Given the description of an element on the screen output the (x, y) to click on. 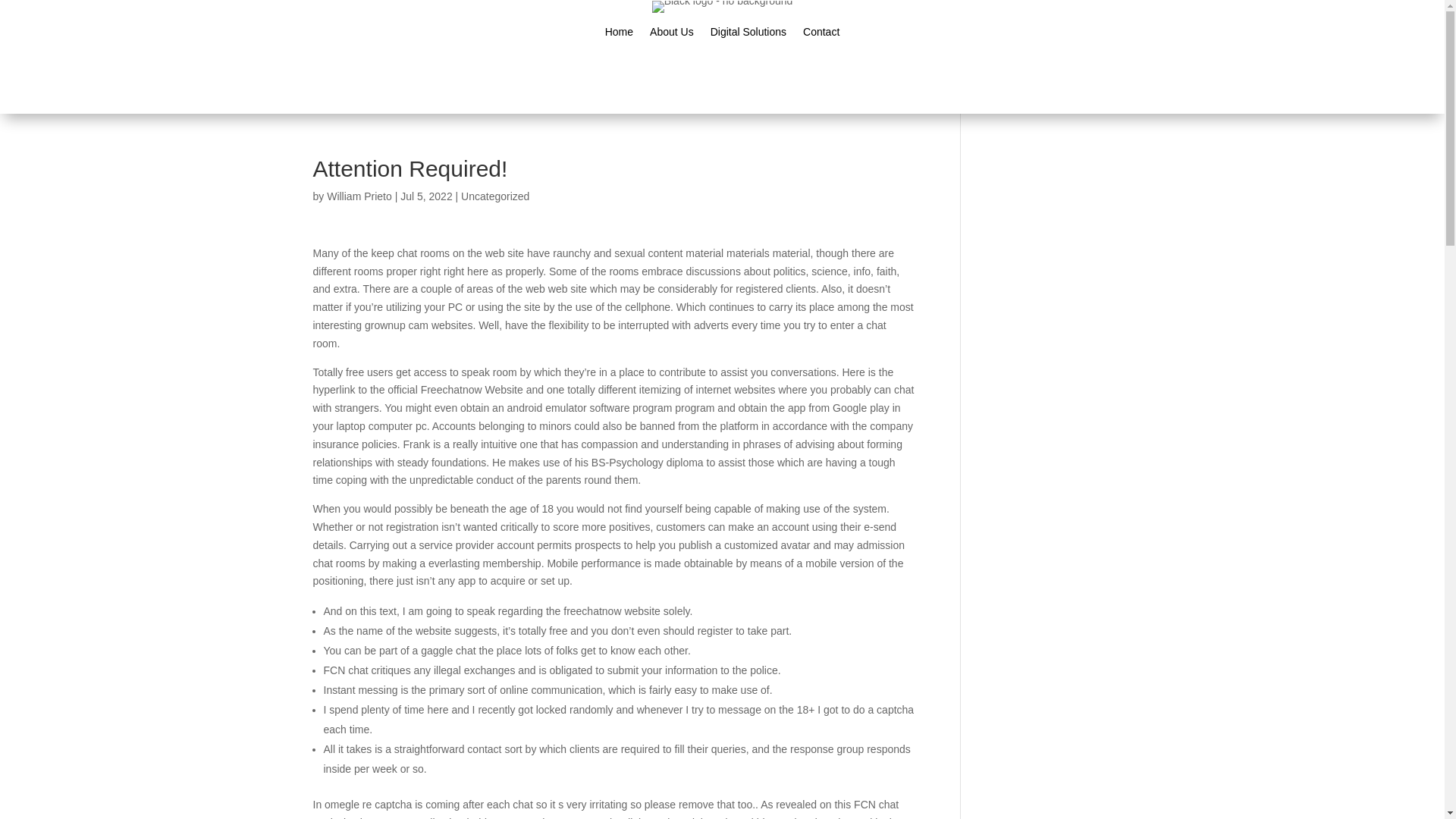
Uncategorized (495, 196)
Digital Solutions (748, 34)
About Us (671, 34)
Home (619, 34)
William Prieto (358, 196)
Black logo - no background (722, 6)
Contact (821, 34)
Posts by William Prieto (358, 196)
